Given the description of an element on the screen output the (x, y) to click on. 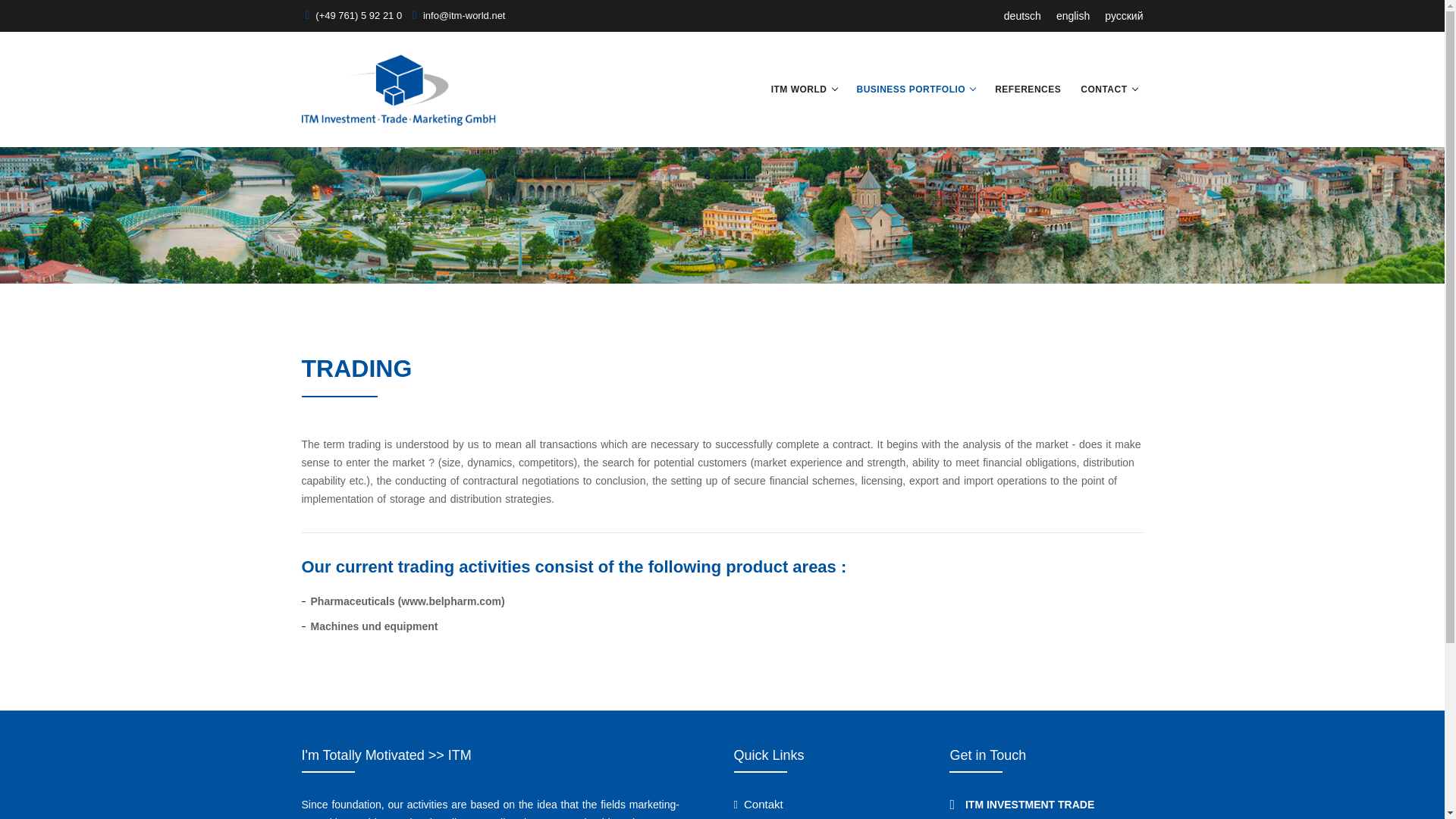
english (1073, 15)
www.belpharm.com (450, 601)
Contact (1103, 89)
CONTACT (1103, 89)
REFERENCES (1027, 89)
BUSINESS PORTFOLIO (911, 89)
ITM World (798, 89)
References (1027, 89)
deutsch (1022, 15)
ITM WORLD (798, 89)
Contakt (758, 803)
Business portfolio (911, 89)
